Given the description of an element on the screen output the (x, y) to click on. 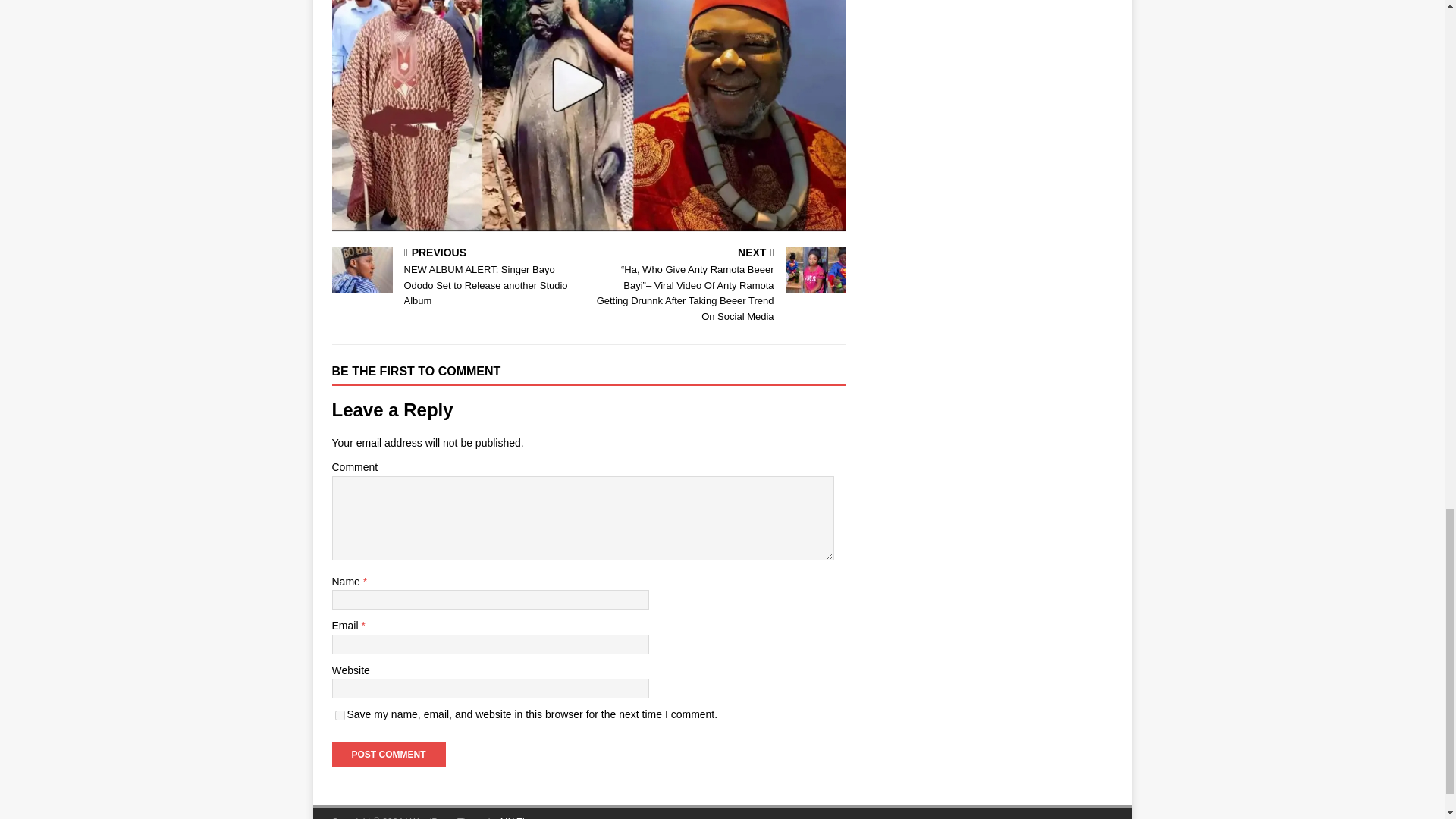
Post Comment (388, 754)
yes (339, 715)
Post Comment (388, 754)
